Given the description of an element on the screen output the (x, y) to click on. 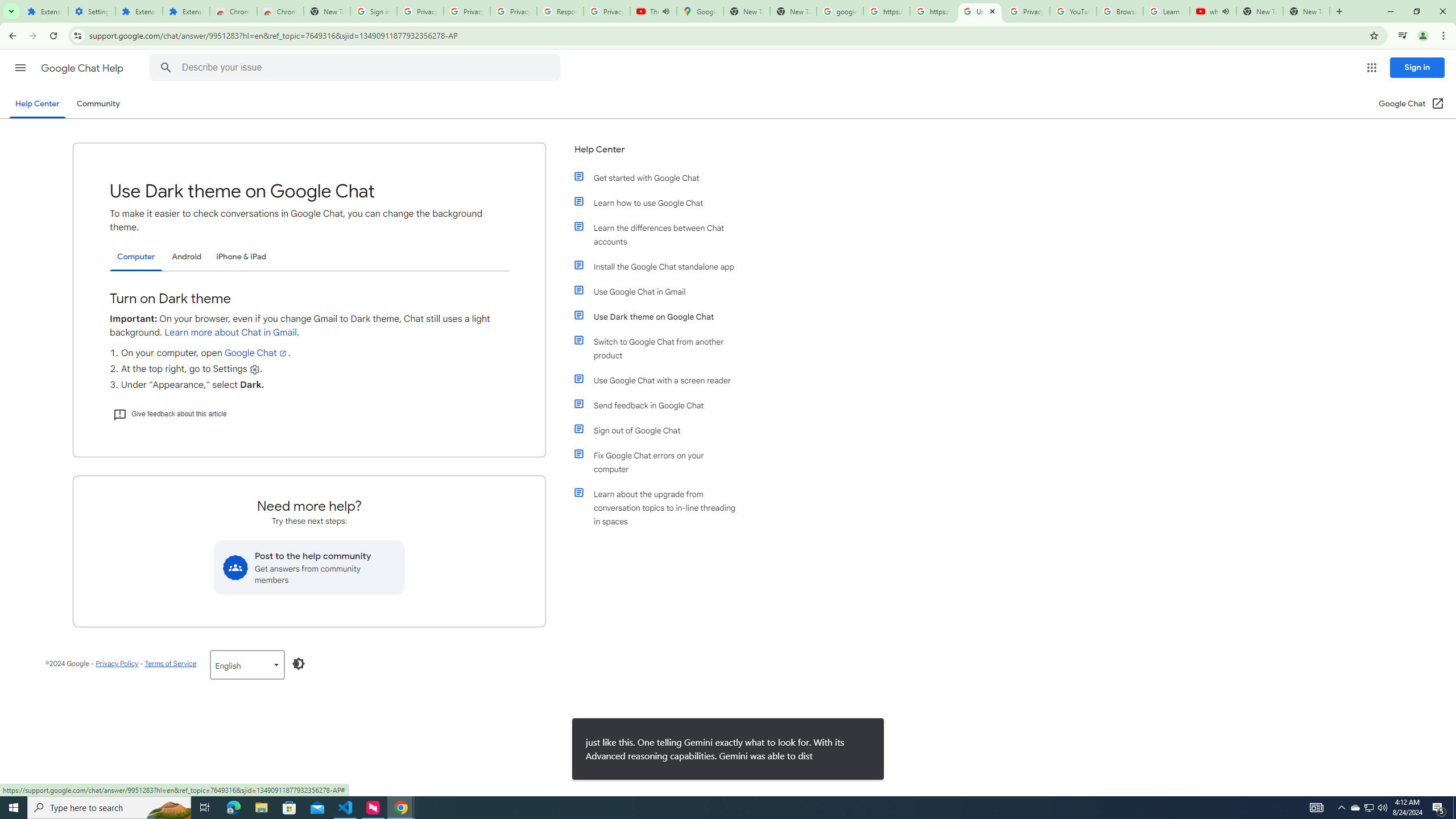
Android (186, 256)
Fix Google Chat errors on your computer (661, 462)
Community (97, 103)
Computer (136, 257)
iPhone & iPad (240, 256)
Use Google Chat with a screen reader (661, 380)
Get started with Google Chat (661, 177)
Chrome Web Store (233, 11)
